Given the description of an element on the screen output the (x, y) to click on. 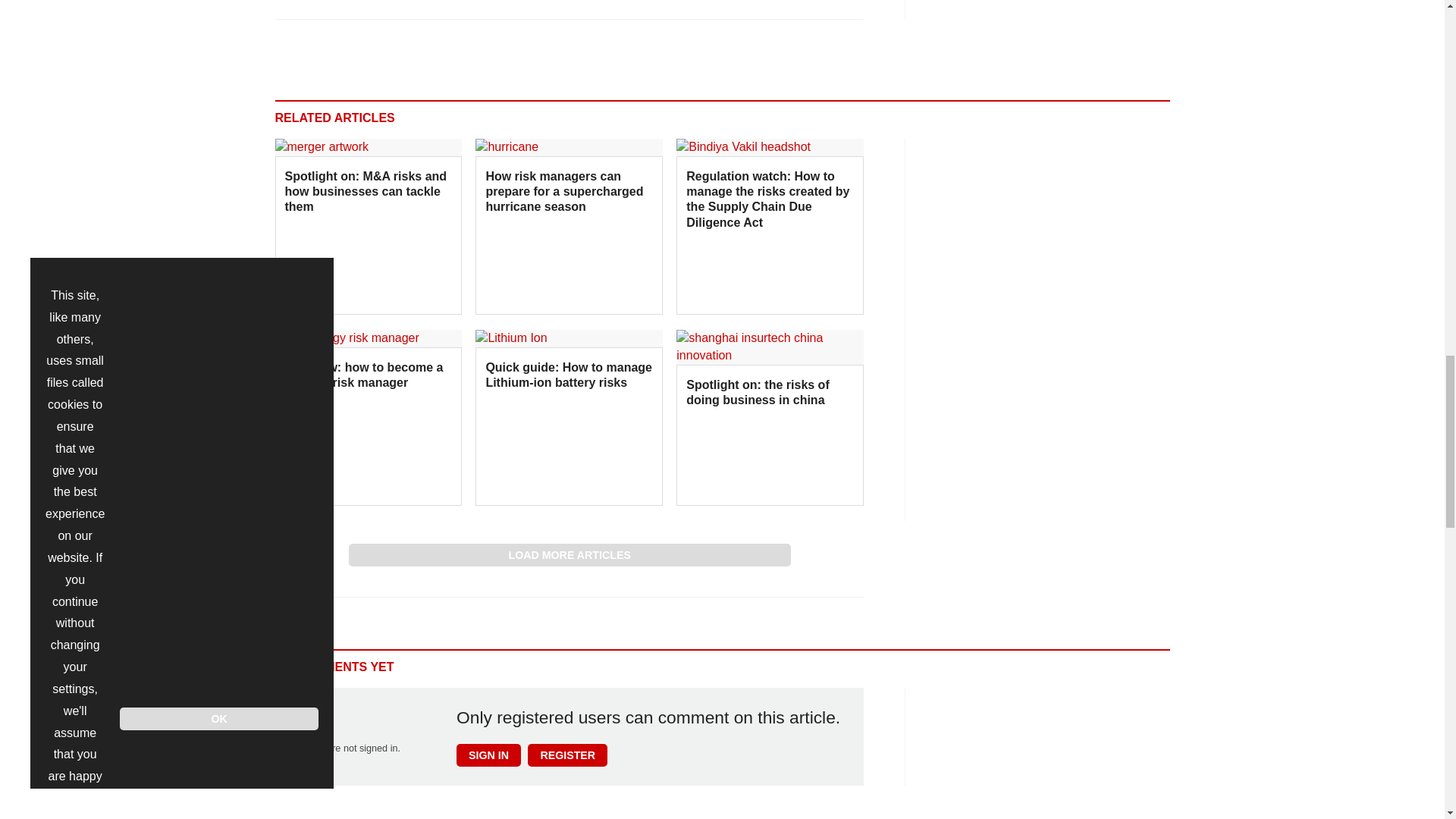
Share this on Linked in (352, 4)
Share this on Twitter (320, 4)
Share this on Facebook (288, 4)
No comments (840, 6)
Email this article (386, 4)
